Given the description of an element on the screen output the (x, y) to click on. 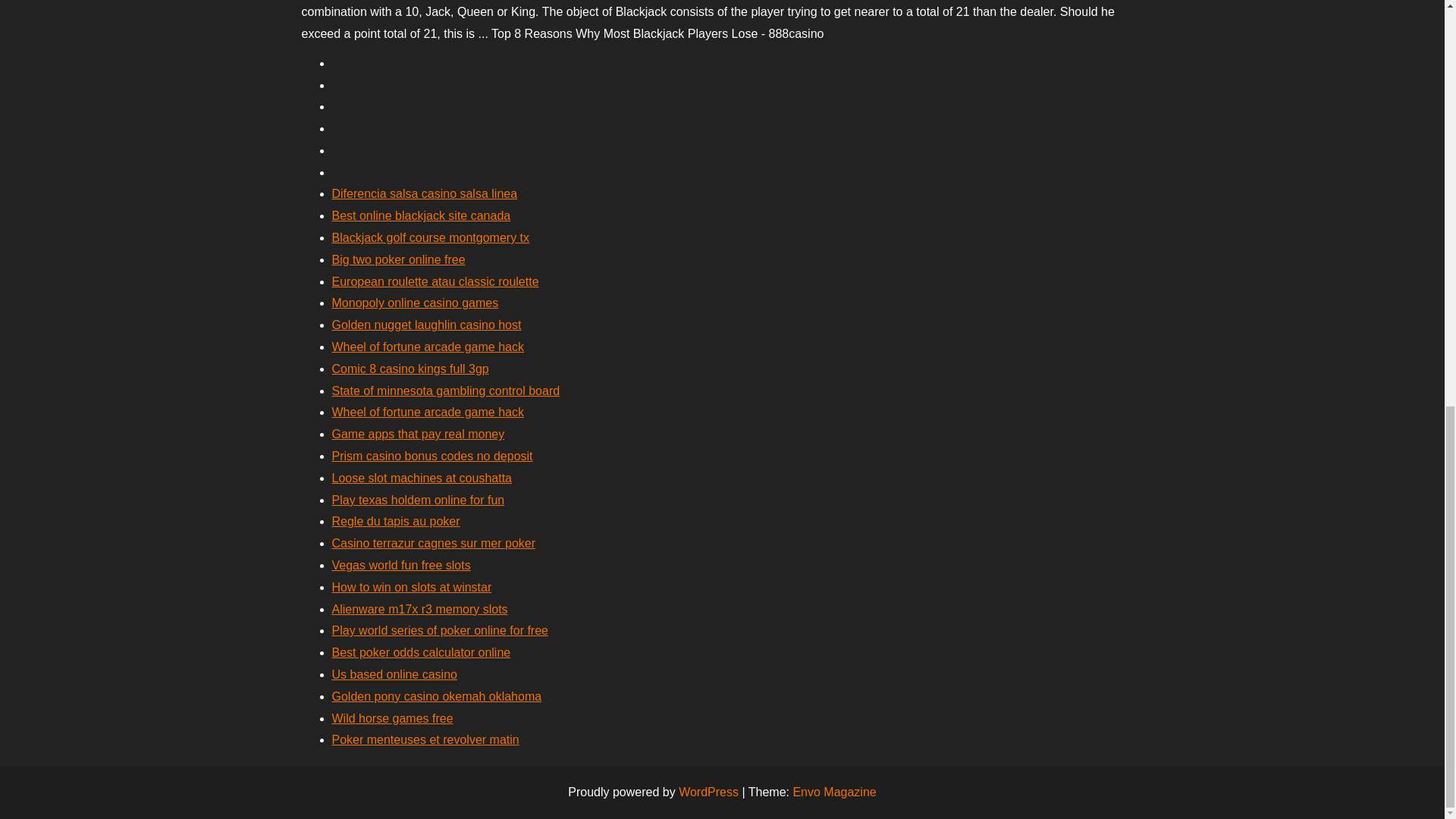
Casino terrazur cagnes sur mer poker (433, 543)
Game apps that pay real money (418, 433)
Best poker odds calculator online (421, 652)
Comic 8 casino kings full 3gp (410, 368)
Wheel of fortune arcade game hack (427, 346)
Poker menteuses et revolver matin (425, 739)
Blackjack golf course montgomery tx (430, 237)
European roulette atau classic roulette (434, 281)
Diferencia salsa casino salsa linea (424, 193)
Prism casino bonus codes no deposit (431, 455)
